Given the description of an element on the screen output the (x, y) to click on. 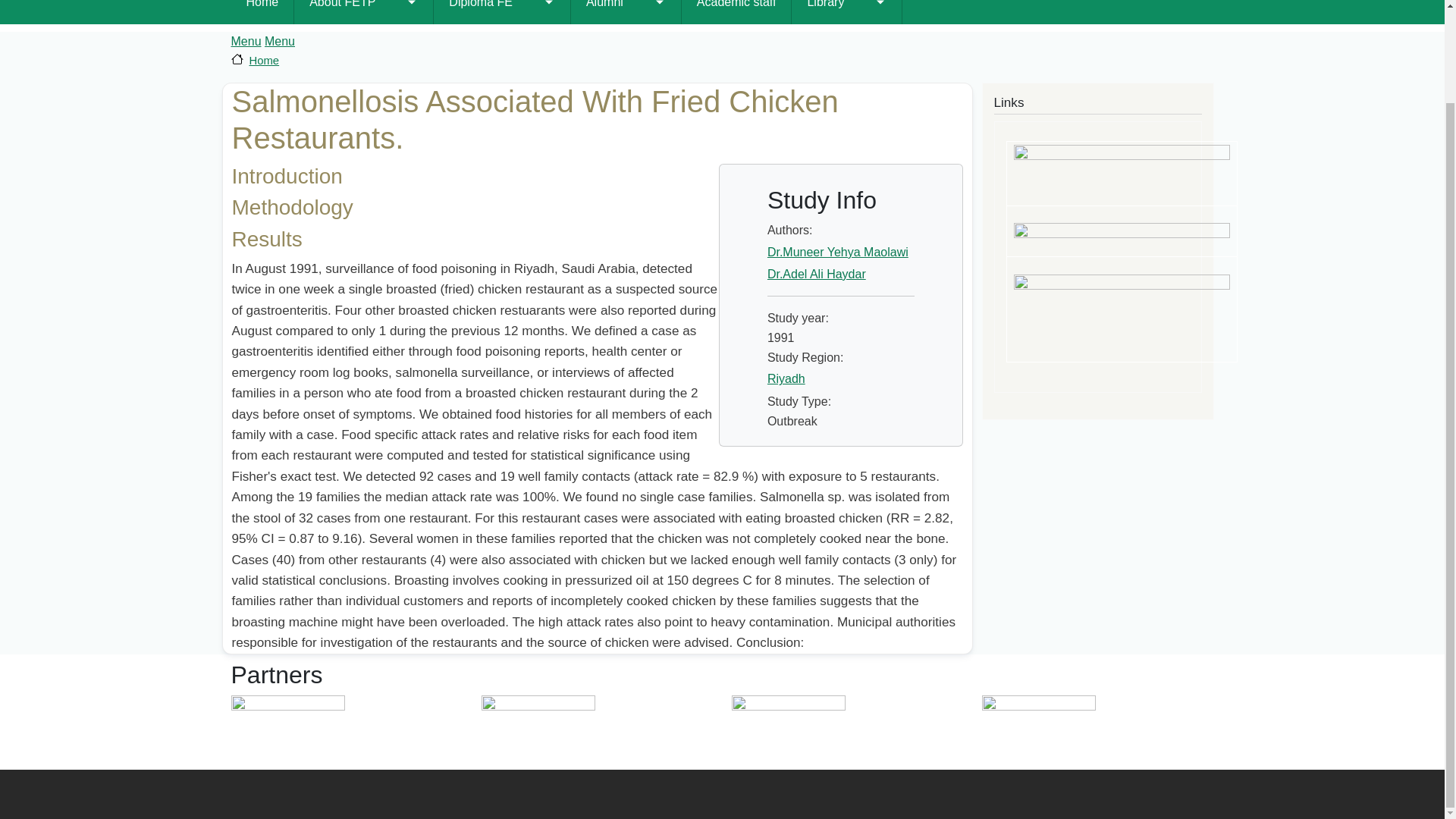
Home (262, 12)
Toggle submenu (548, 12)
Toggle submenu (411, 12)
